Given the description of an element on the screen output the (x, y) to click on. 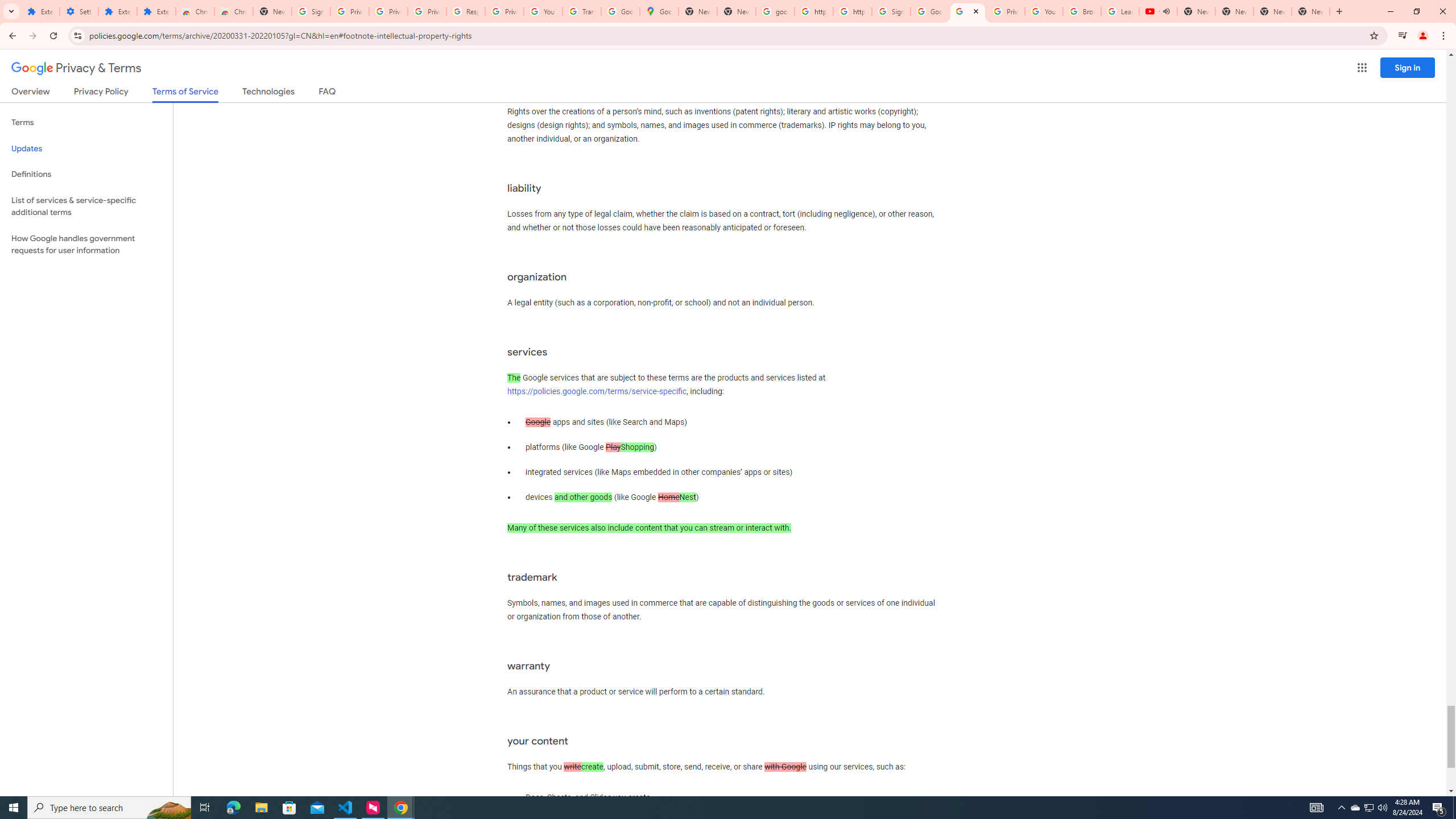
Extensions (156, 11)
New Tab (1311, 11)
https://scholar.google.com/ (852, 11)
https://scholar.google.com/ (813, 11)
